Given the description of an element on the screen output the (x, y) to click on. 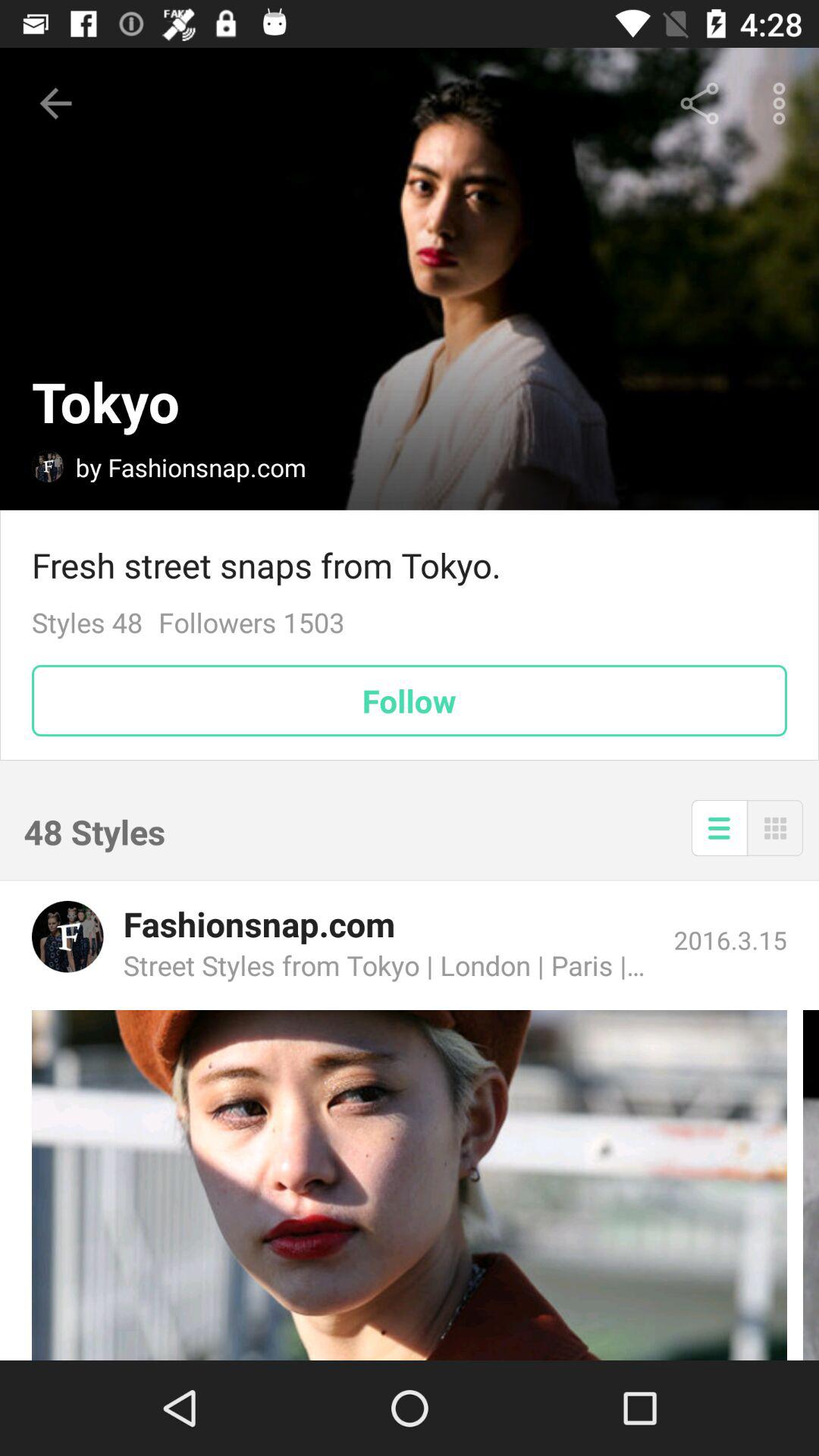
link to profile (67, 936)
